Given the description of an element on the screen output the (x, y) to click on. 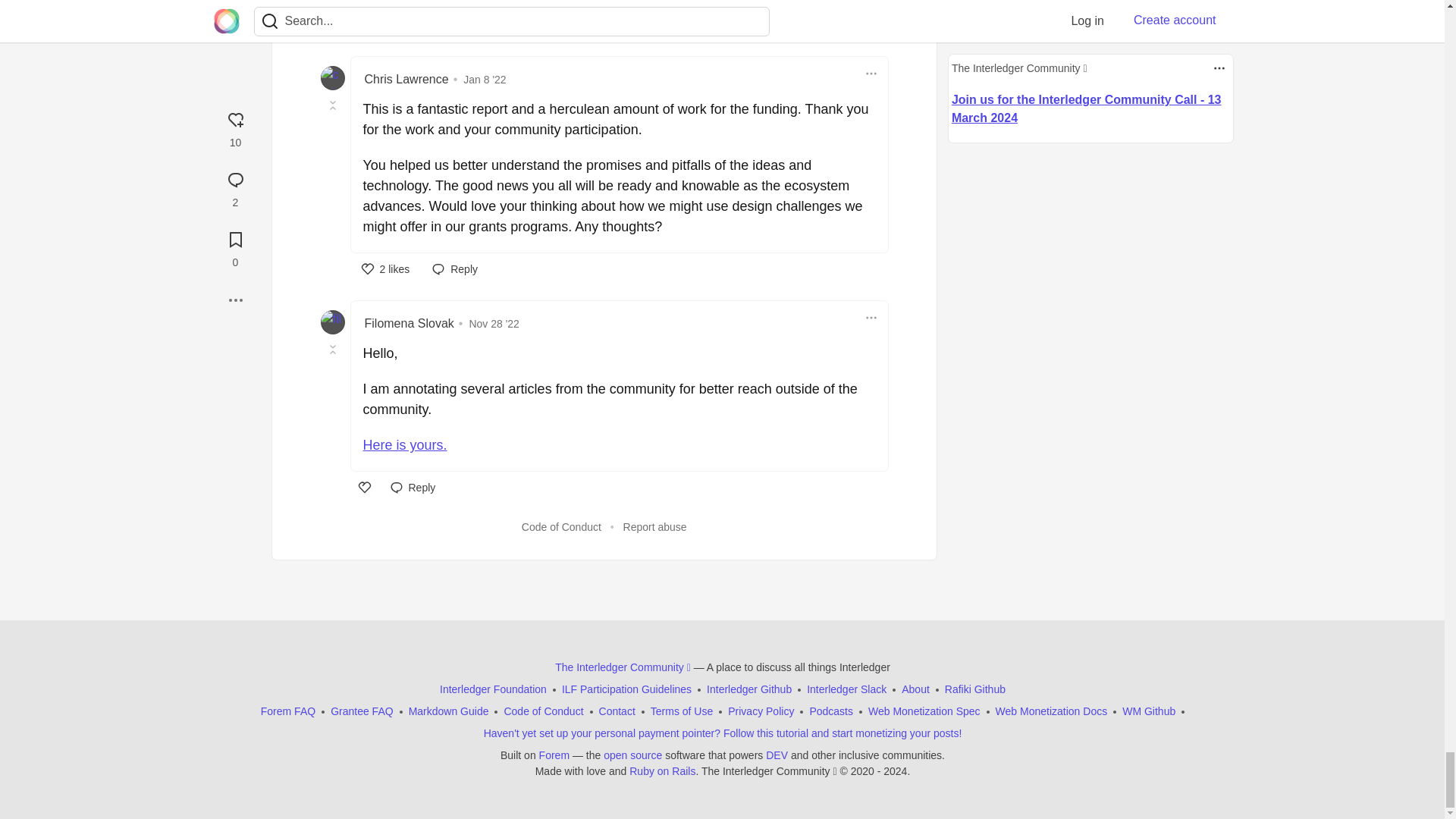
Saturday, January 8, 2022 at 2:07:44 AM (484, 79)
Dropdown menu (870, 317)
Monday, November 28, 2022 at 11:00:40 PM (493, 323)
Dropdown menu (870, 73)
